Given the description of an element on the screen output the (x, y) to click on. 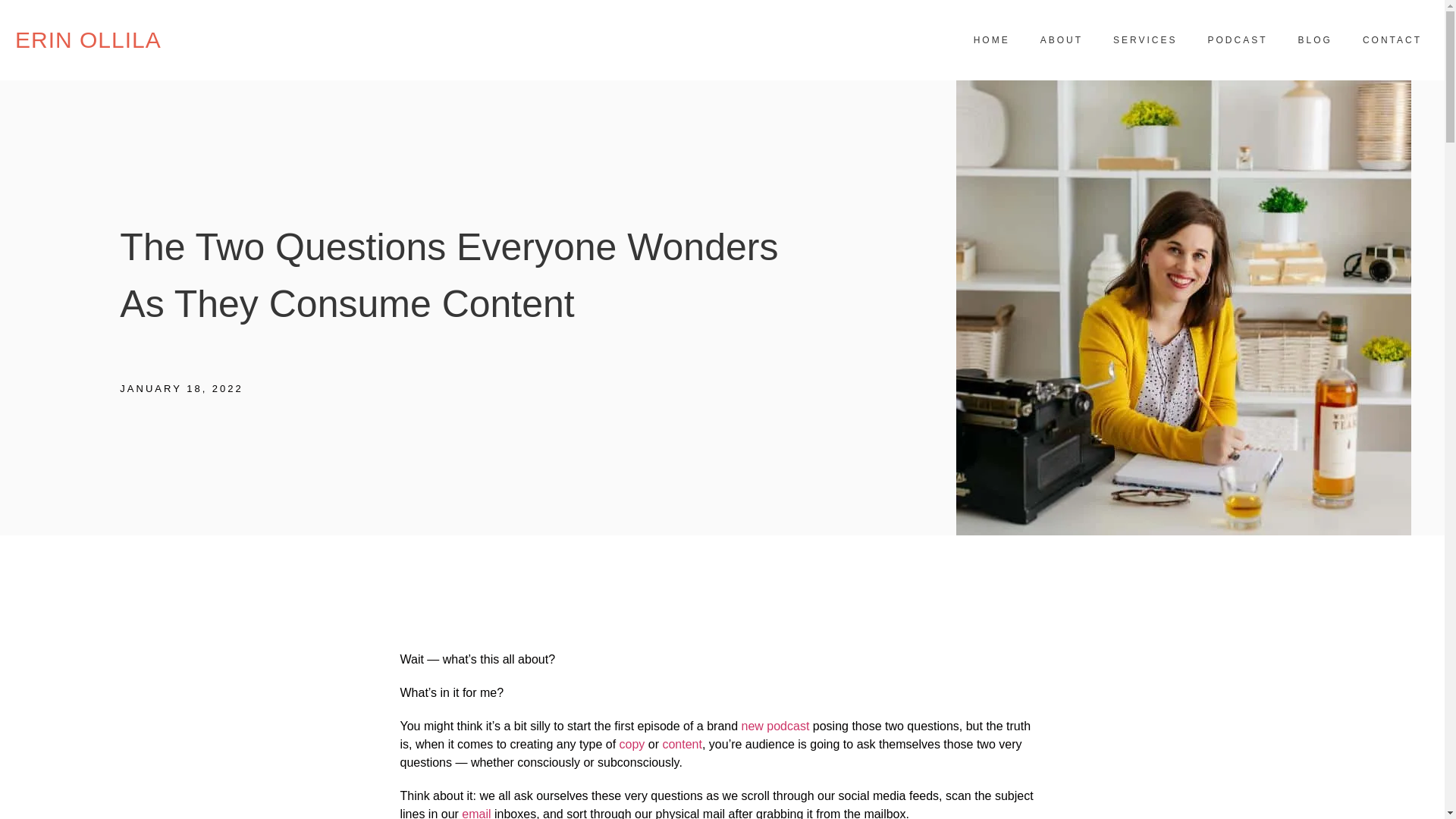
ERIN OLLILA (87, 39)
HOME (991, 39)
email (475, 813)
CONTACT (1392, 39)
BLOG (1315, 39)
SERVICES (1144, 39)
copy (632, 744)
content (681, 744)
PODCAST (1237, 39)
ABOUT (1061, 39)
new podcast (775, 725)
